Given the description of an element on the screen output the (x, y) to click on. 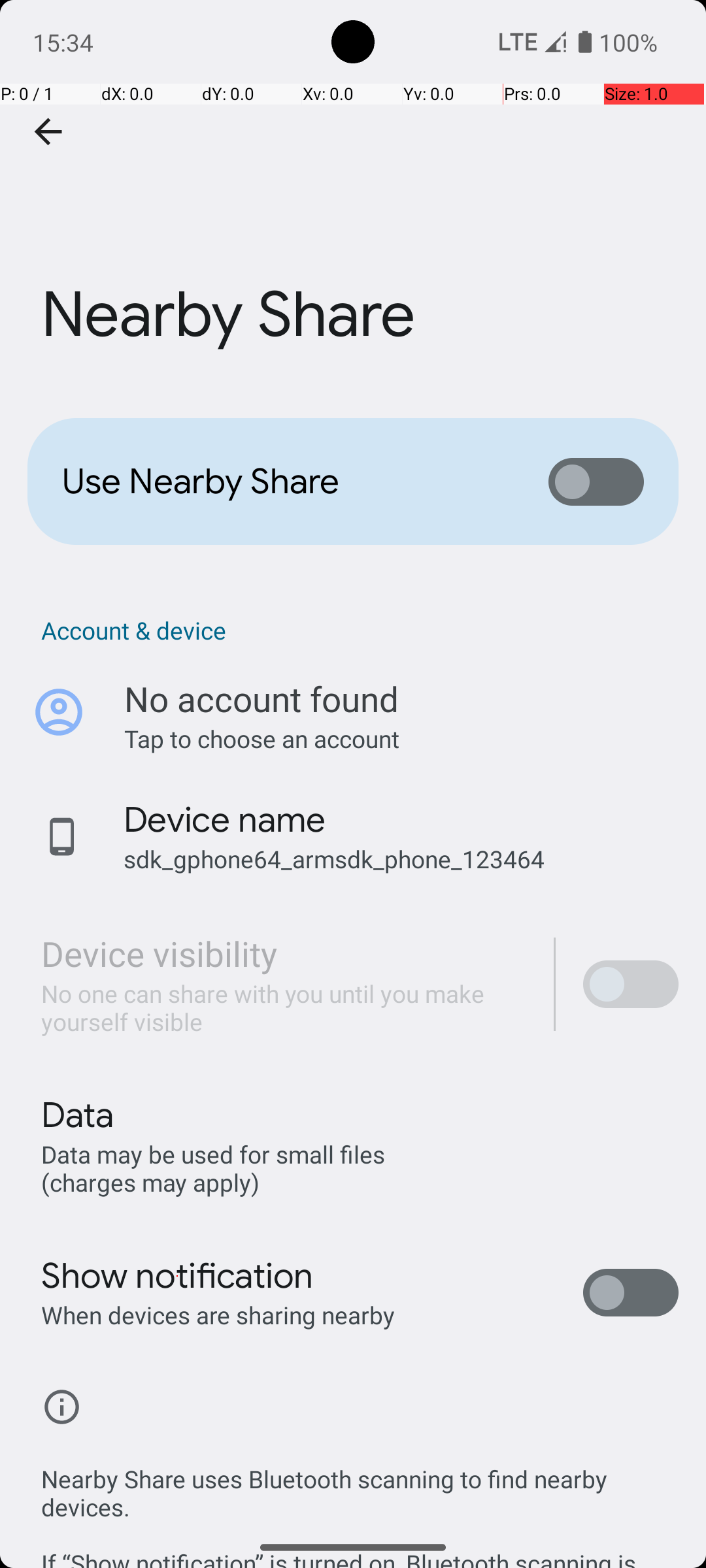
Nearby Share Element type: android.widget.FrameLayout (353, 195)
Use Nearby Share Element type: android.widget.TextView (284, 481)
Account & device Element type: android.widget.TextView (359, 629)
No account found Element type: android.widget.TextView (261, 698)
Tap to choose an account Element type: android.widget.TextView (401, 738)
sdk_gphone64_armsdk_phone_123464 Element type: android.widget.TextView (333, 858)
Data Element type: android.widget.TextView (77, 1115)
Data may be used for small files 
(charges may apply) Element type: android.widget.TextView (215, 1167)
Show notification Element type: android.widget.TextView (177, 1275)
When devices are sharing nearby Element type: android.widget.TextView (218, 1314)
Nearby Share uses Bluetooth scanning to find nearby devices. 

If “Show notification” is turned on, Bluetooth scanning is used to notify you if someone wants to share with you, even when Nearby Share is turned off. Element type: android.widget.TextView (359, 1501)
No one can share with you until you make yourself visible Element type: android.widget.TextView (283, 1007)
